Given the description of an element on the screen output the (x, y) to click on. 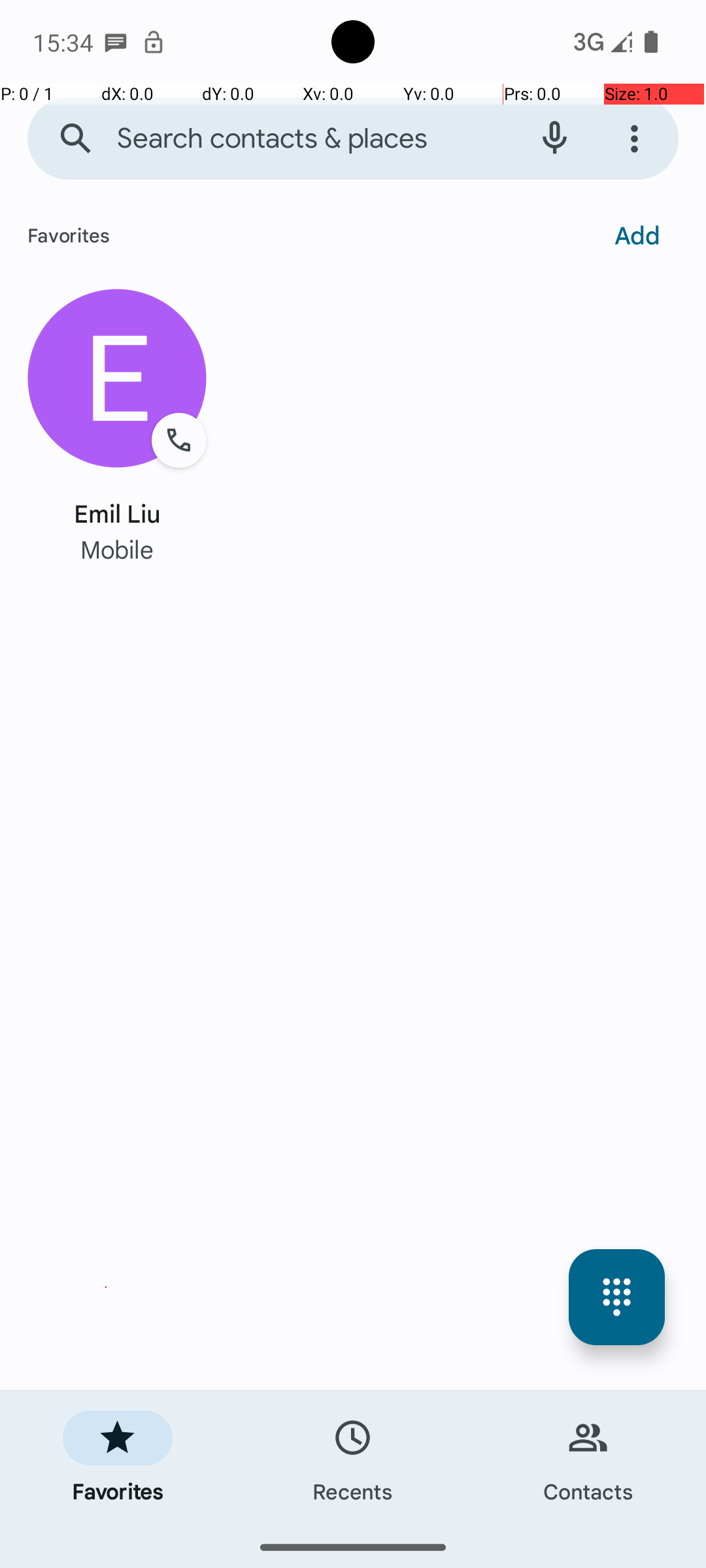
Quick contact for Emil Liu Element type: android.widget.QuickContactBadge (117, 378)
Emil Liu Element type: android.widget.TextView (116, 512)
